Given the description of an element on the screen output the (x, y) to click on. 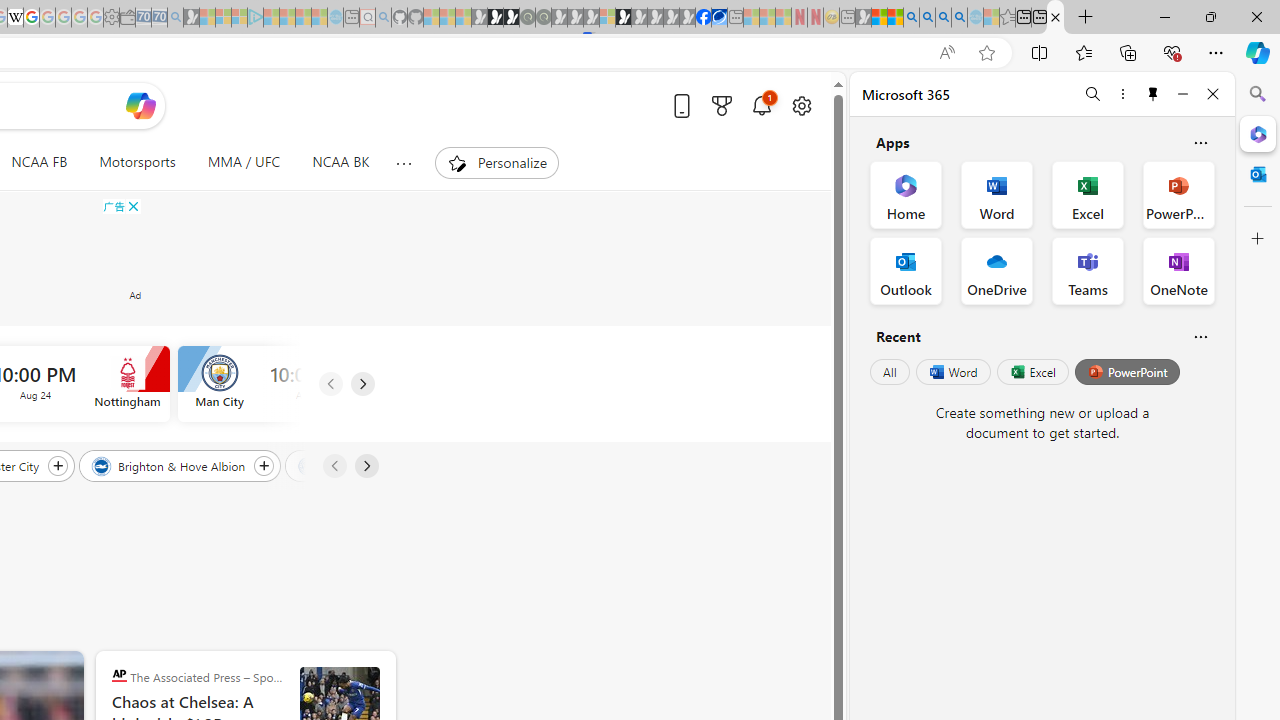
Google Chrome Internet Browser Download - Search Images (959, 17)
Outlook Office App (906, 270)
PowerPoint (1127, 372)
All (890, 372)
Excel (1031, 372)
OneDrive Office App (996, 270)
